Given the description of an element on the screen output the (x, y) to click on. 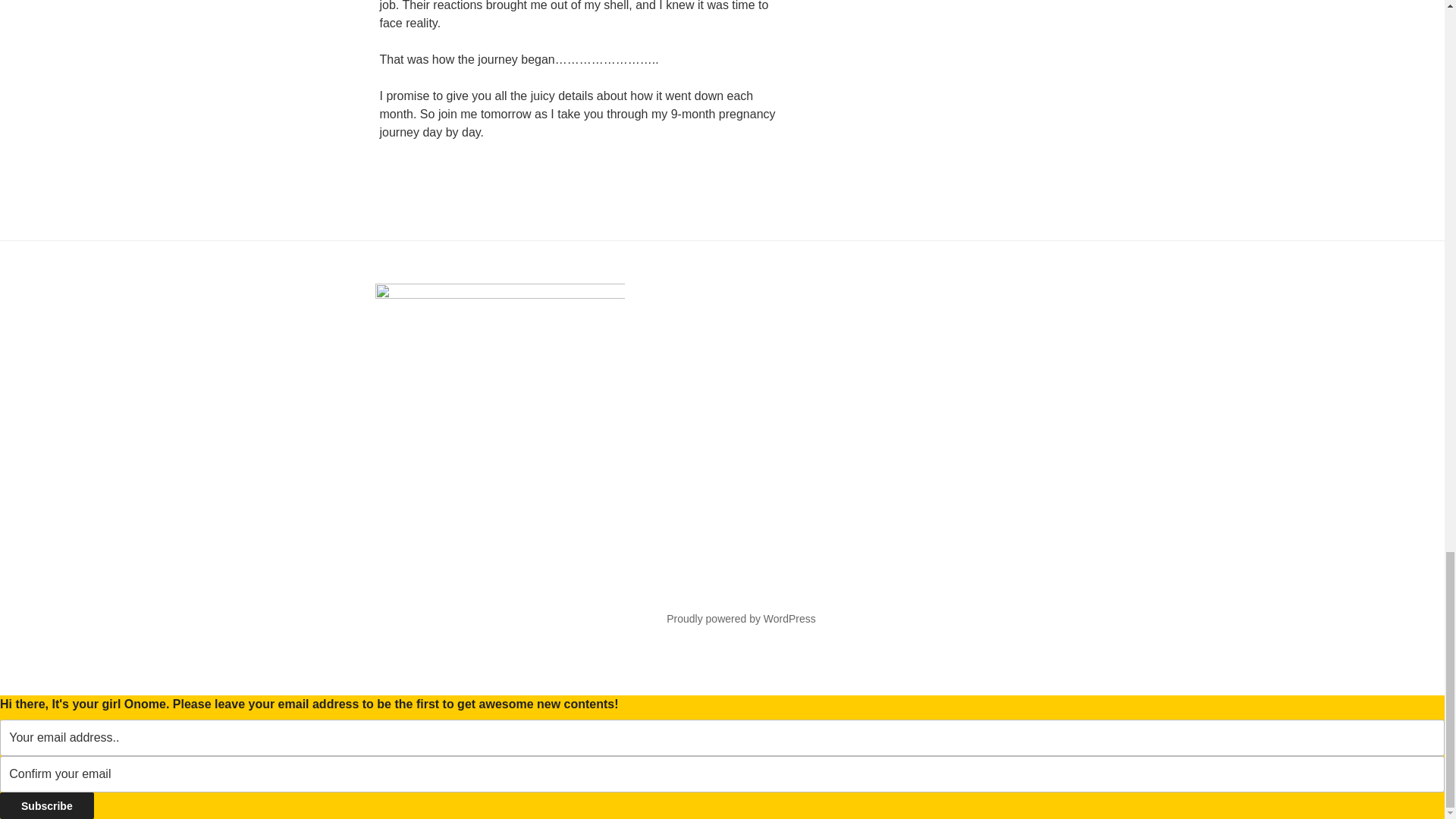
Home (504, 612)
PODCAST (409, 663)
Naked with Onome Podcast (454, 637)
About (395, 612)
Blog (449, 612)
